Given the description of an element on the screen output the (x, y) to click on. 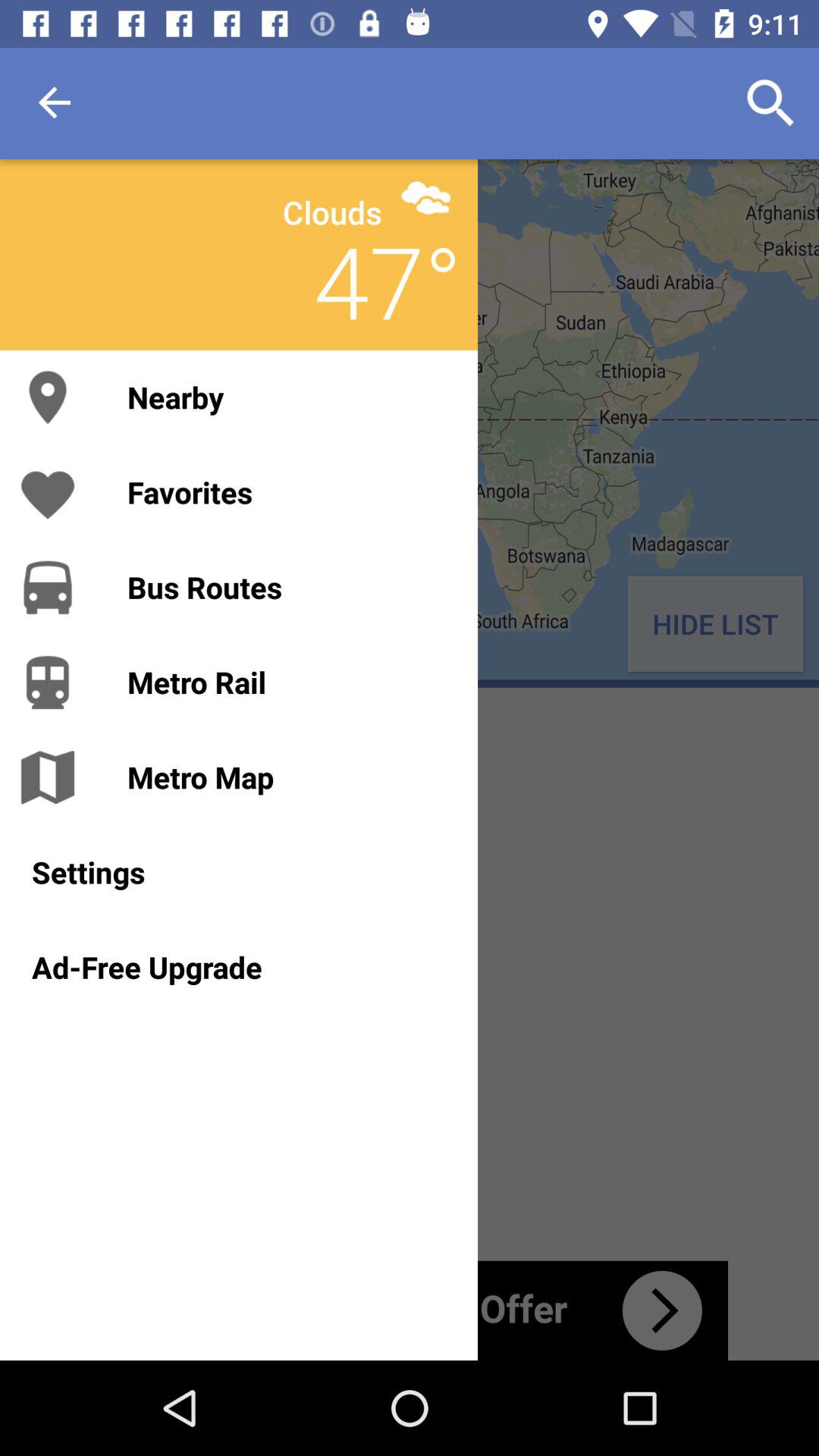
tap settings (238, 871)
